Given the description of an element on the screen output the (x, y) to click on. 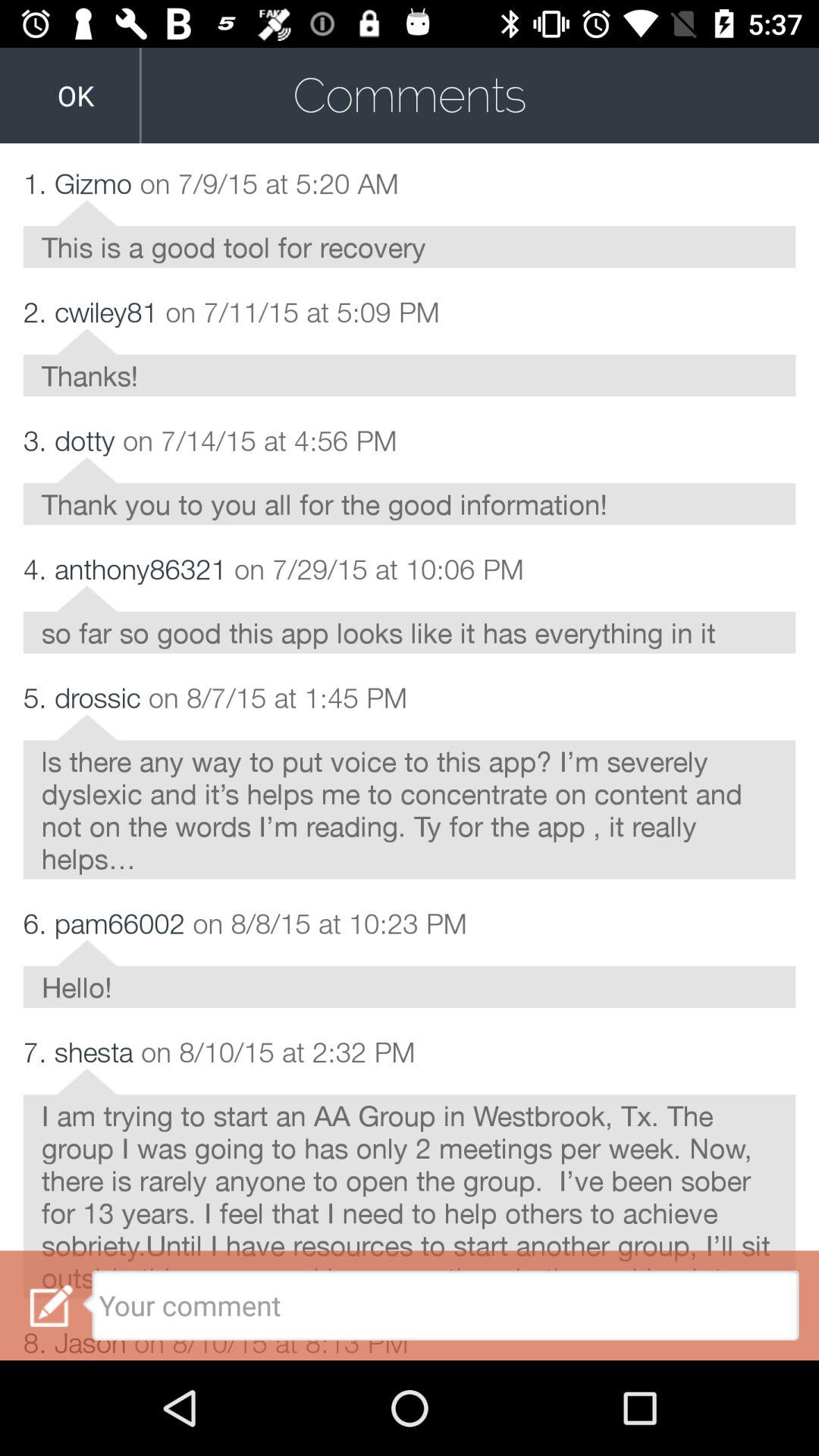
click on the icon beside your comment (51, 1305)
